Given the description of an element on the screen output the (x, y) to click on. 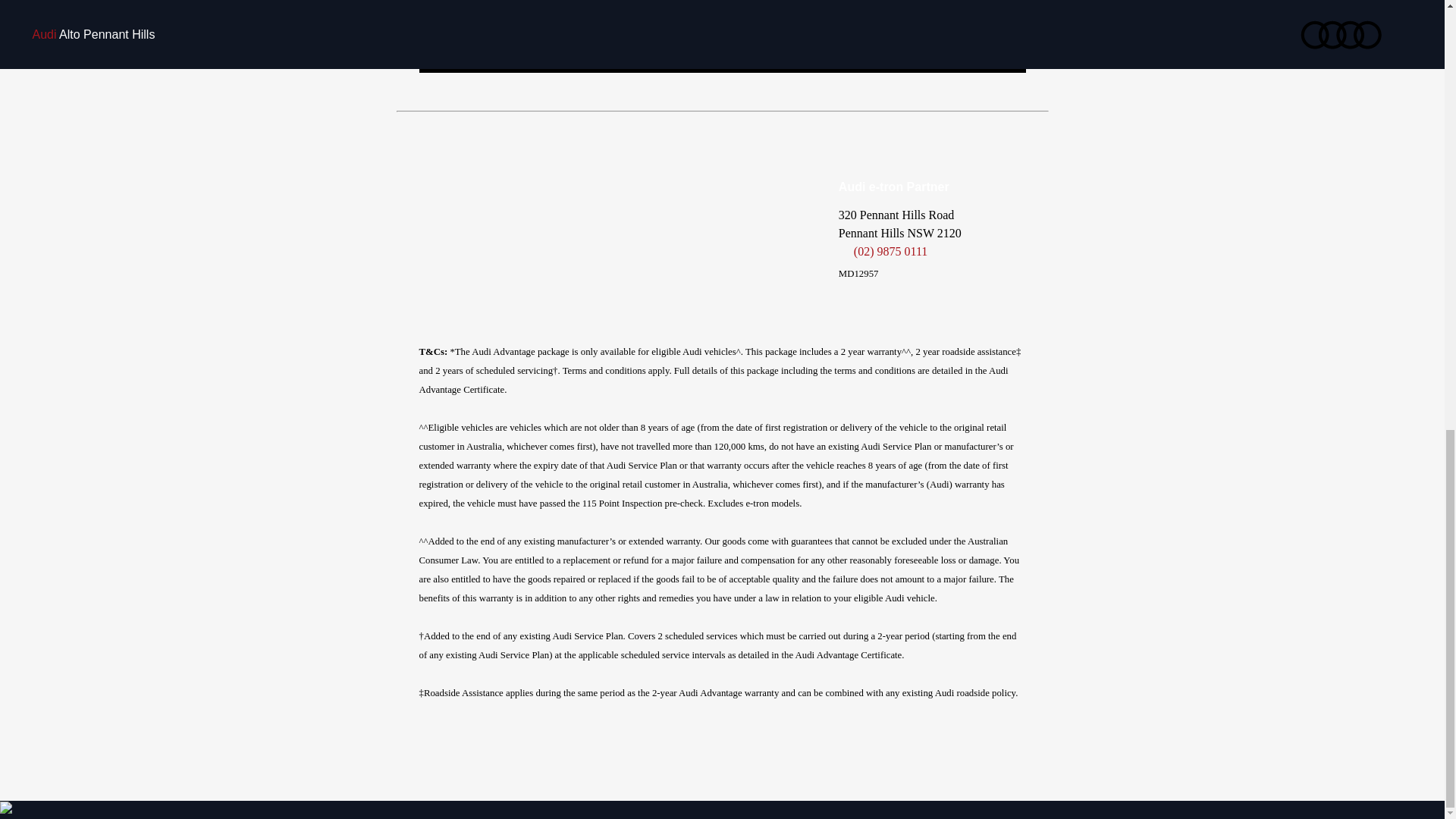
Submit (722, 52)
Submit (722, 52)
